Given the description of an element on the screen output the (x, y) to click on. 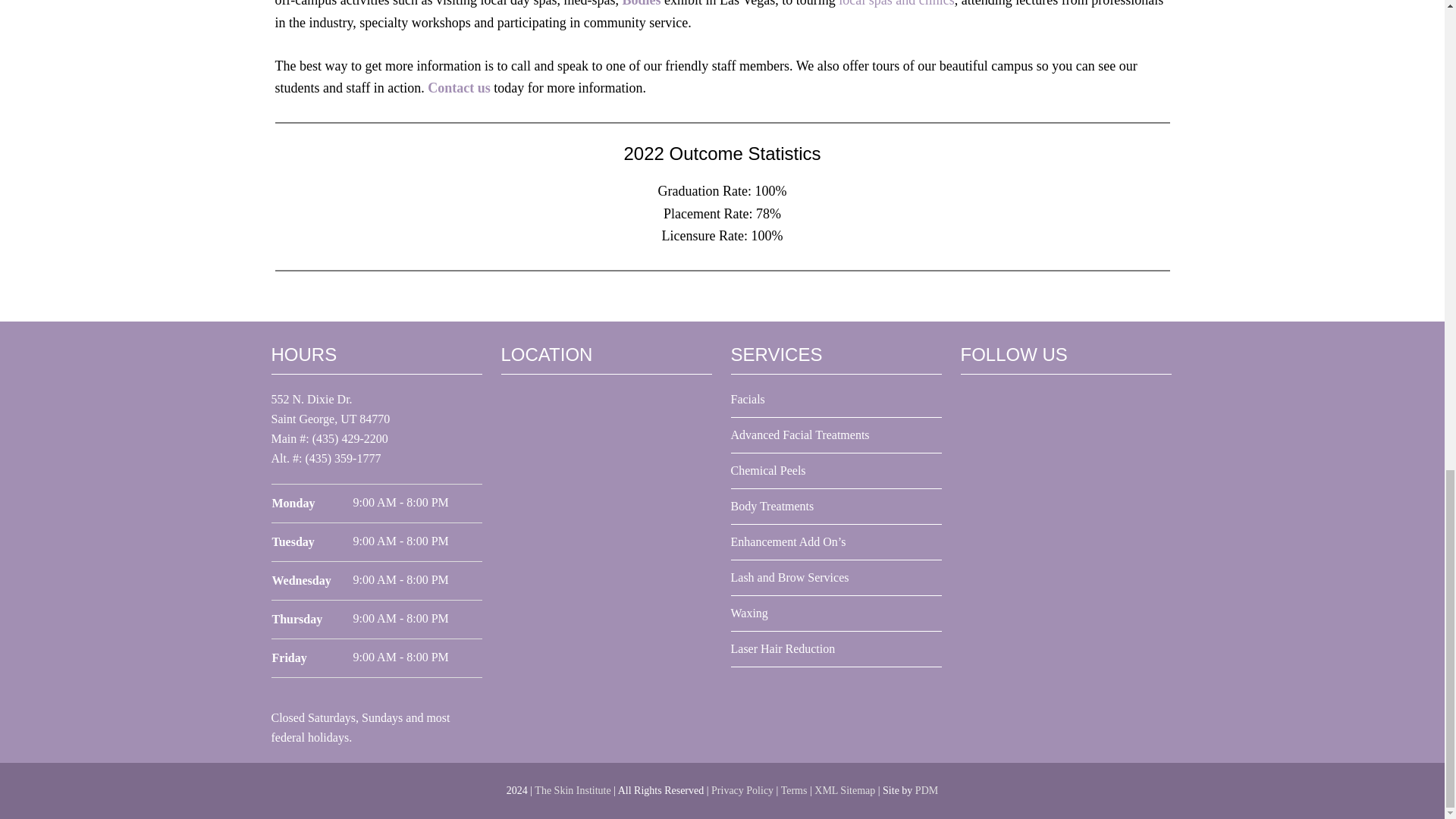
Lash and Brow Services (789, 576)
local spas and clinics (895, 3)
Bodies (642, 3)
Ogden SEO (926, 790)
Facials (747, 399)
Chemical Peels (768, 470)
Waxing (749, 612)
Contact us (459, 87)
Body Treatments (771, 505)
Advanced Facial Treatments (799, 434)
